Given the description of an element on the screen output the (x, y) to click on. 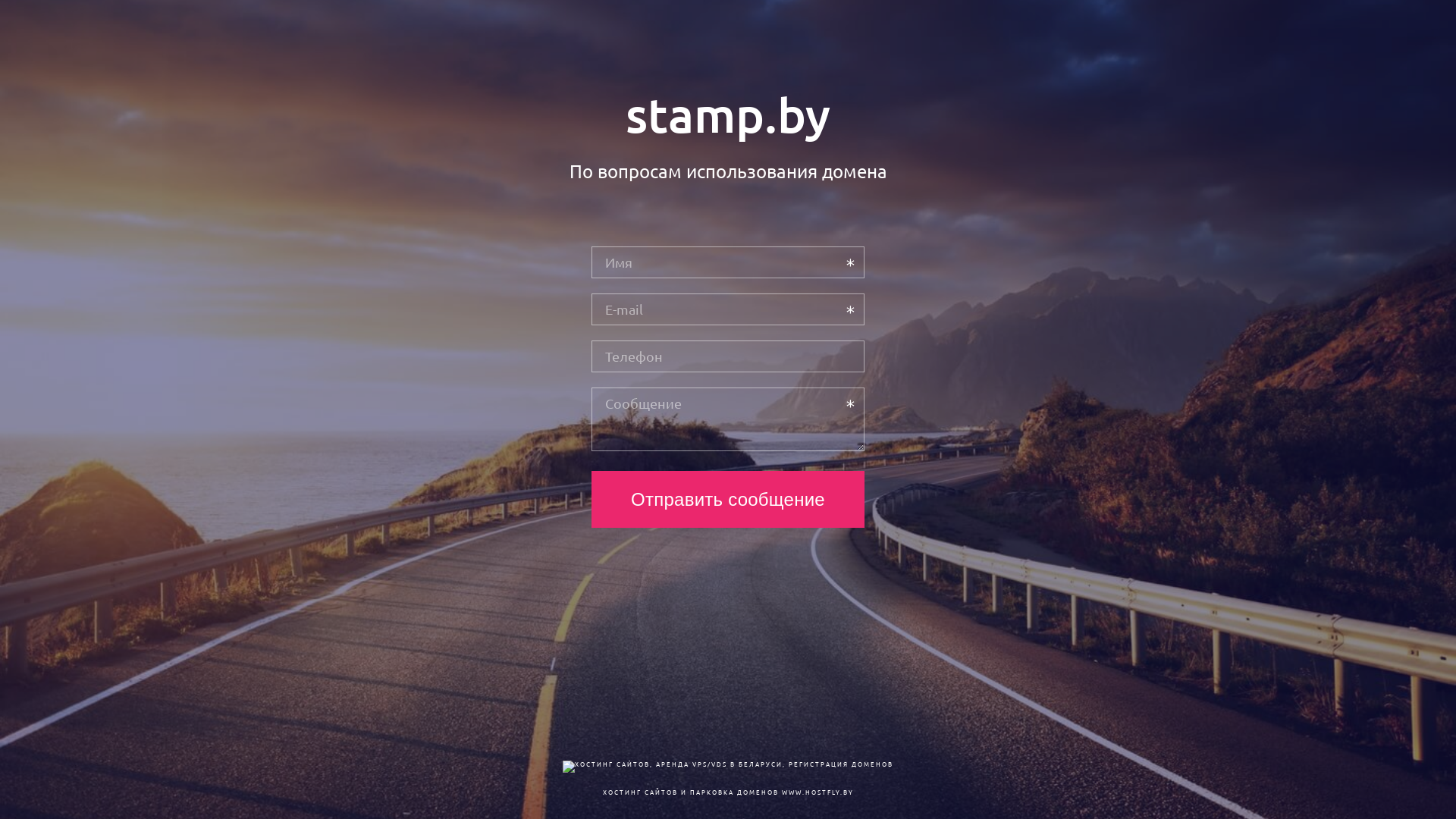
WWW.HOSTFLY.BY Element type: text (817, 791)
